Given the description of an element on the screen output the (x, y) to click on. 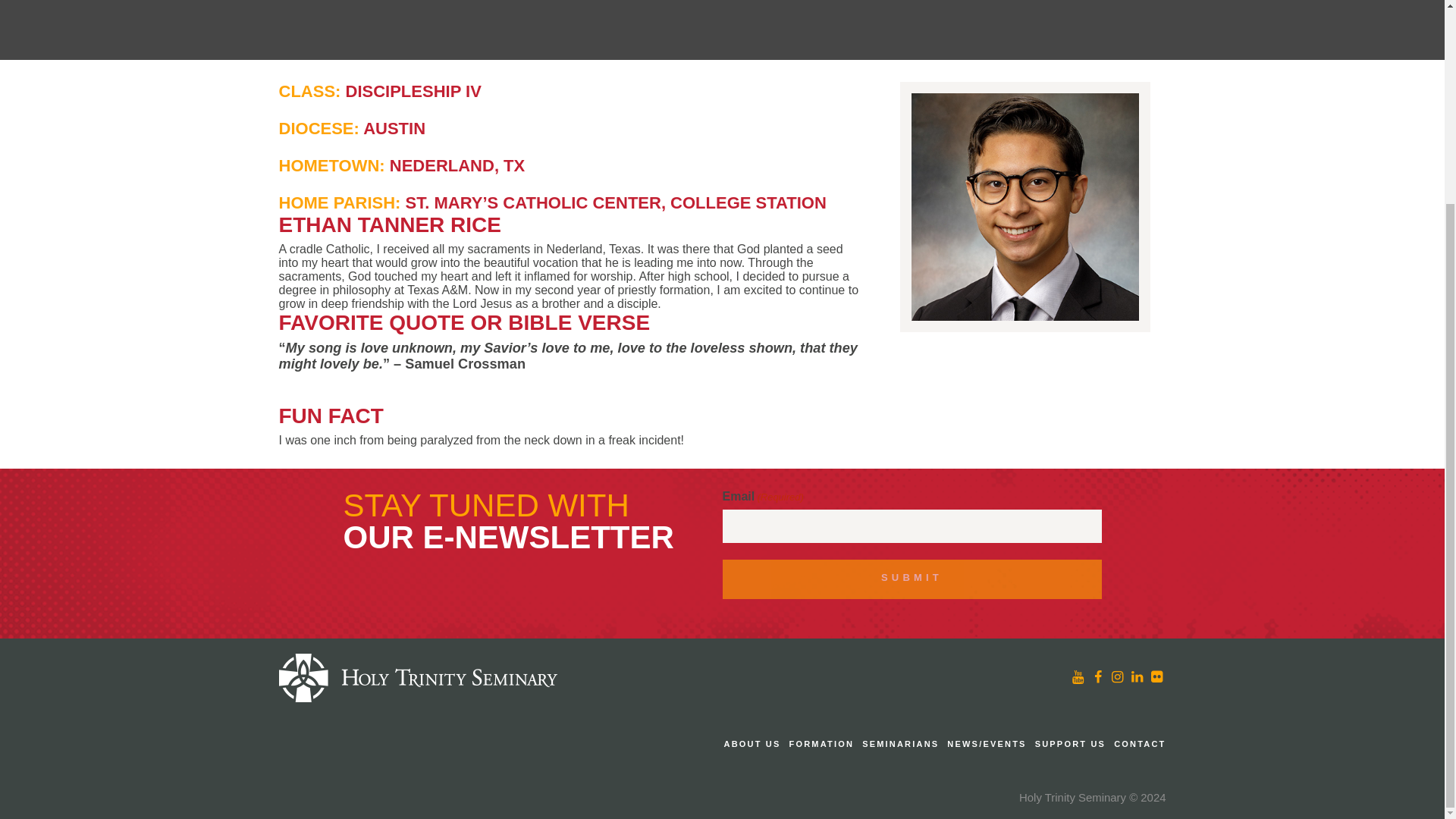
Submit (911, 578)
